Given the description of an element on the screen output the (x, y) to click on. 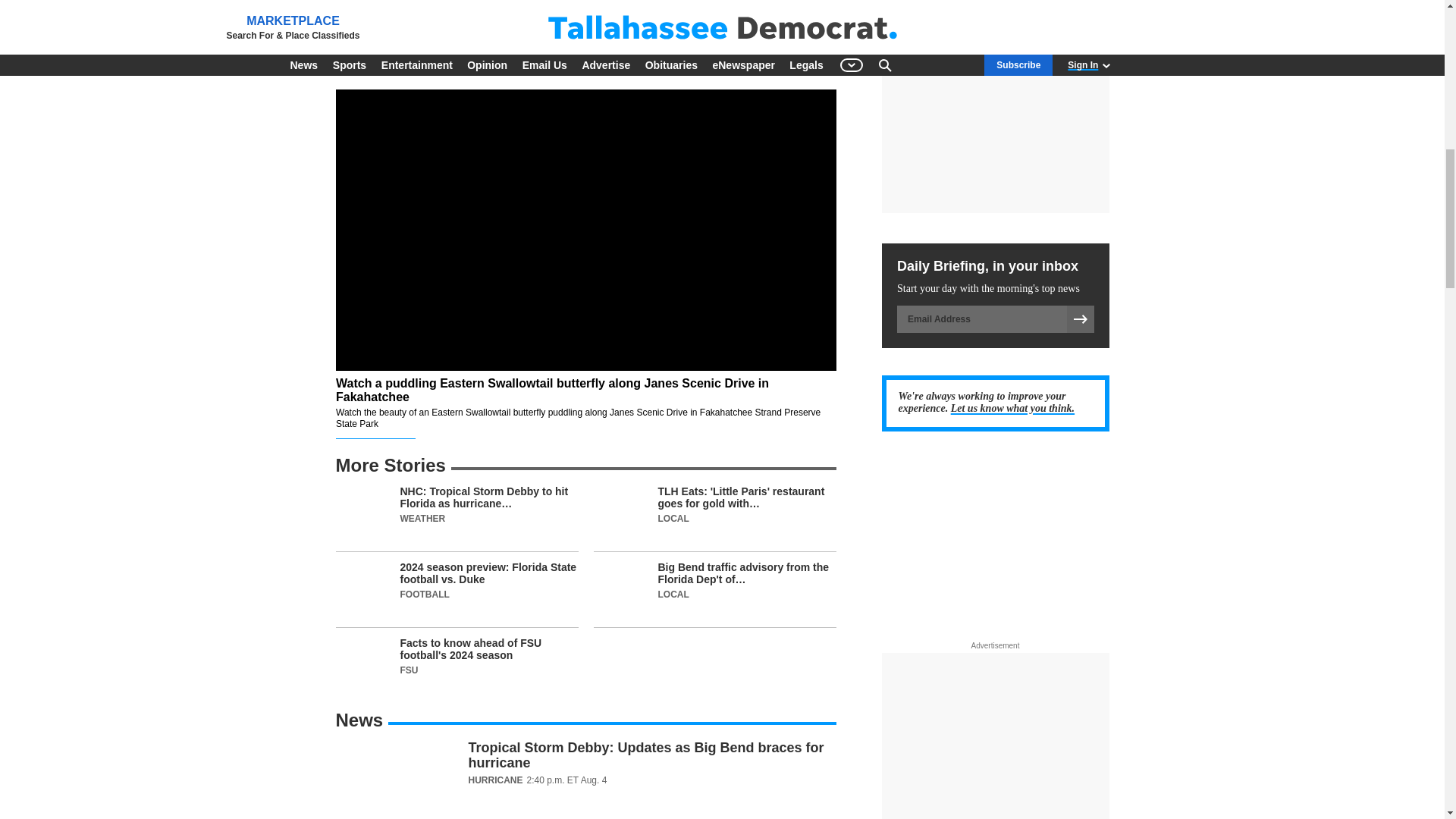
Facts to know ahead of FSU football's 2024 season (456, 665)
2024 season preview: Florida State football vs. Duke (456, 594)
